Given the description of an element on the screen output the (x, y) to click on. 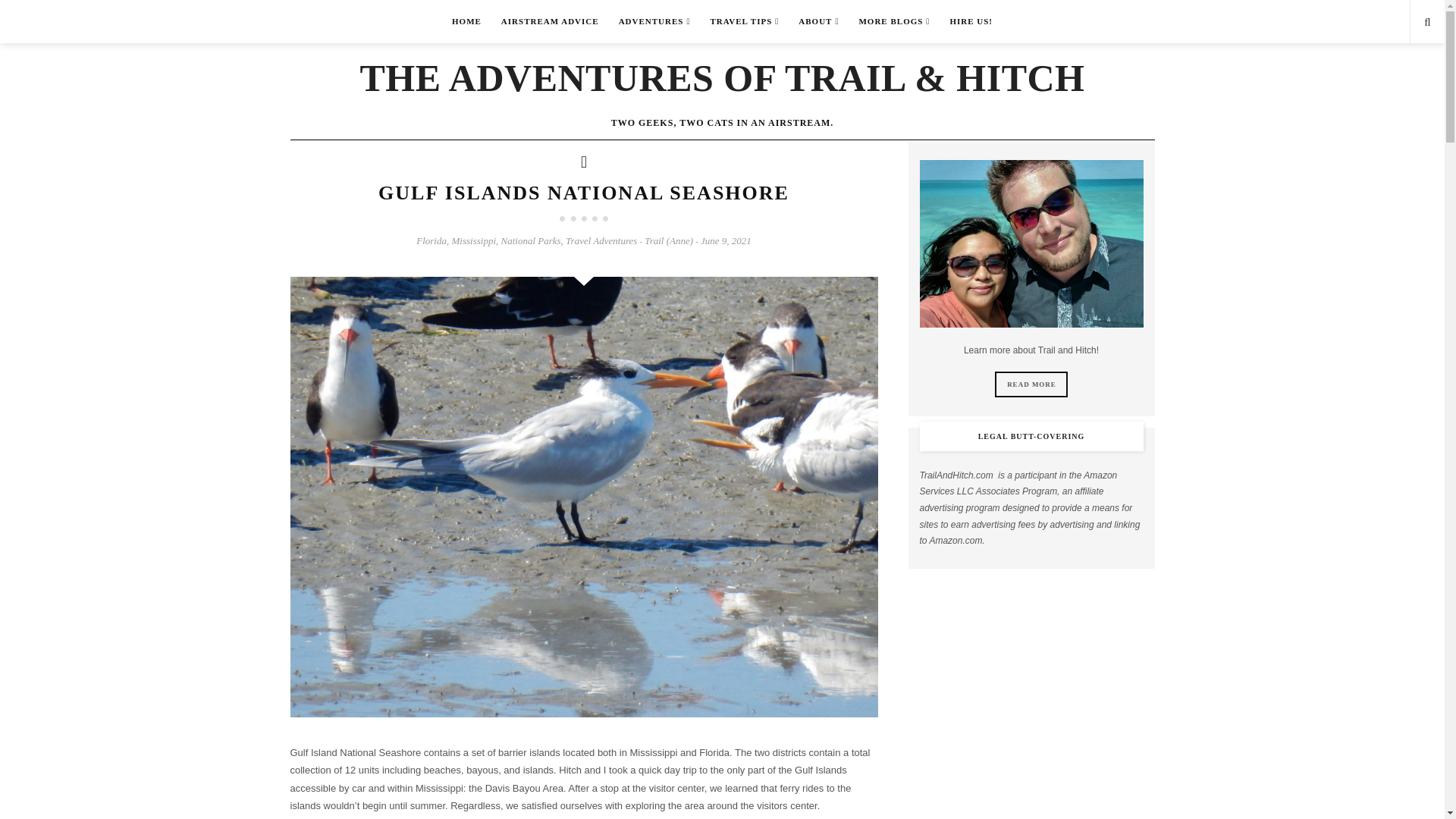
ADVENTURES (654, 21)
HOME (467, 21)
AIRSTREAM ADVICE (550, 21)
